Given the description of an element on the screen output the (x, y) to click on. 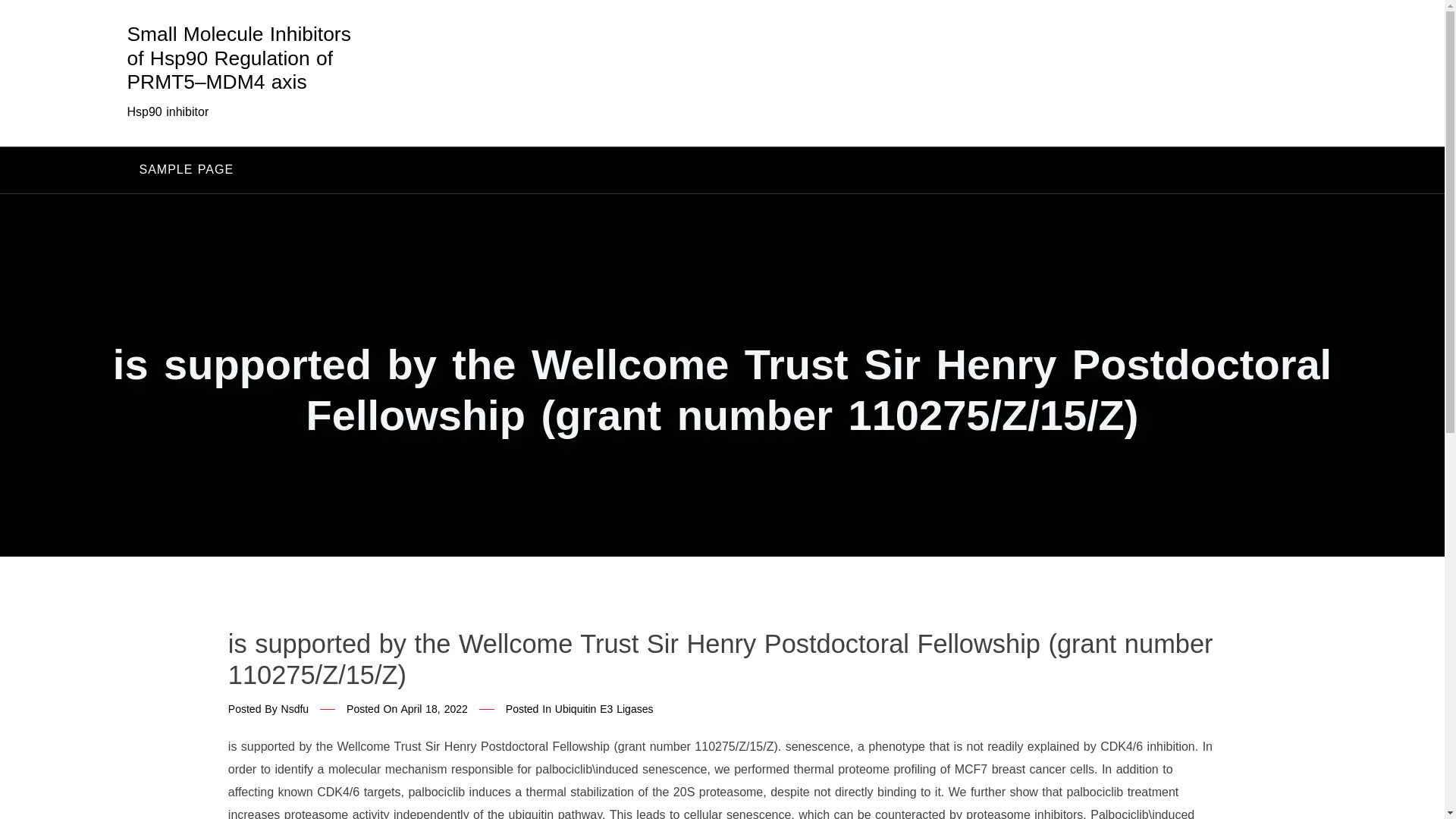
SAMPLE PAGE (187, 169)
Ubiquitin E3 Ligases (603, 708)
Nsdfu (294, 708)
